Given the description of an element on the screen output the (x, y) to click on. 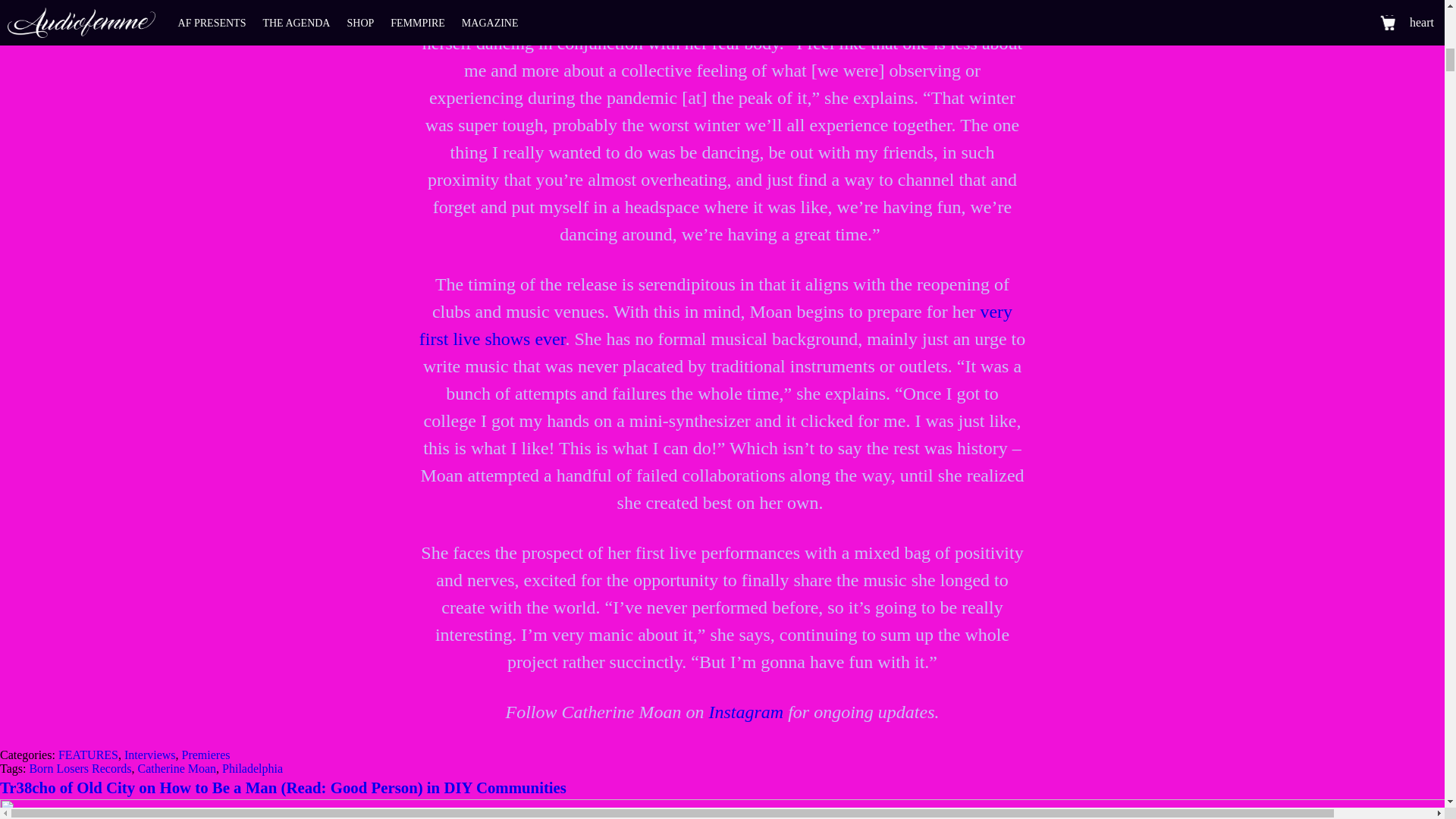
Instagram (745, 711)
Catherine Moan (177, 768)
FEATURES (87, 754)
Philadelphia (252, 768)
Born Losers Records (80, 768)
Interviews (149, 754)
Premieres (206, 754)
very first live shows ever (715, 325)
